Given the description of an element on the screen output the (x, y) to click on. 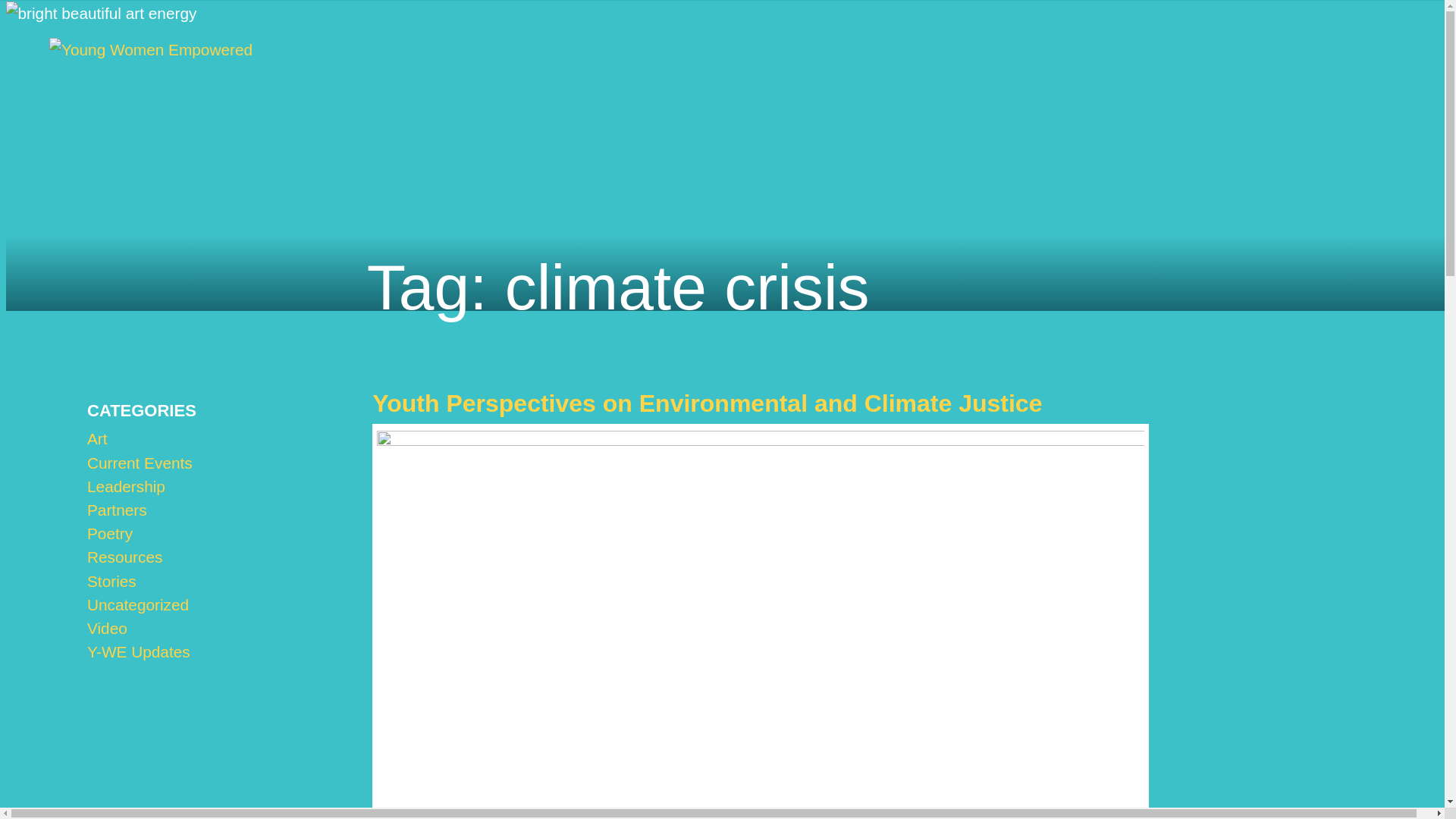
Current Events (139, 462)
Stories (111, 579)
Uncategorized (138, 604)
Leadership (126, 486)
Partners (117, 509)
Y-WE Updates (138, 651)
Art (97, 438)
Poetry (109, 533)
Youth Perspectives on Environmental and Climate Justice (707, 402)
Resources (124, 556)
